Given the description of an element on the screen output the (x, y) to click on. 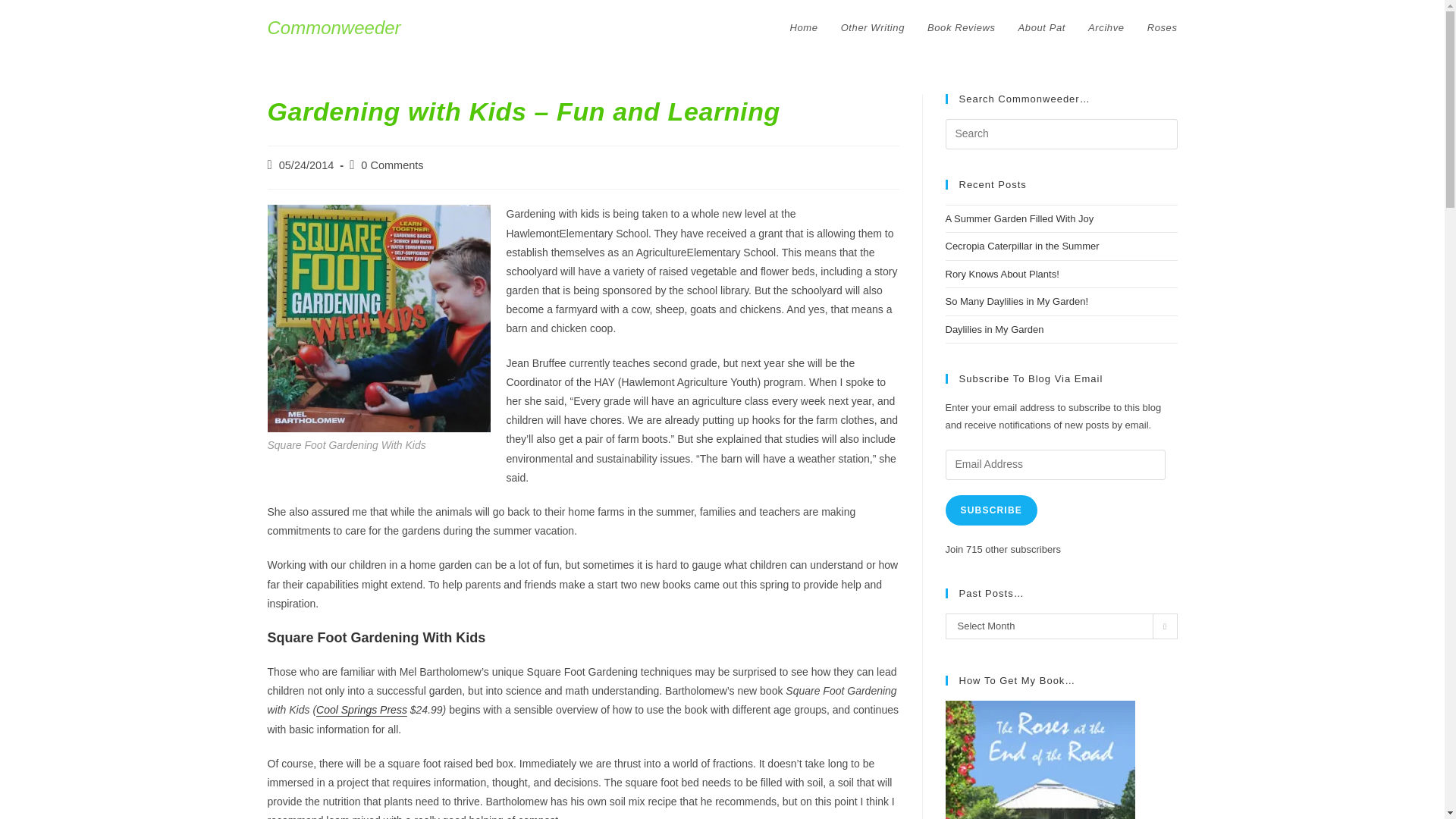
Book Reviews (961, 28)
Home (803, 28)
Other Writing (872, 28)
Cecropia Caterpillar in the Summer (1021, 245)
About Pat (1042, 28)
Roses (1162, 28)
0 Comments (392, 164)
Commonweeder (333, 27)
Cool Springs Press (361, 709)
Rory Knows About Plants! (1001, 274)
Arcihve (1106, 28)
A Summer Garden Filled With Joy (1018, 218)
